Given the description of an element on the screen output the (x, y) to click on. 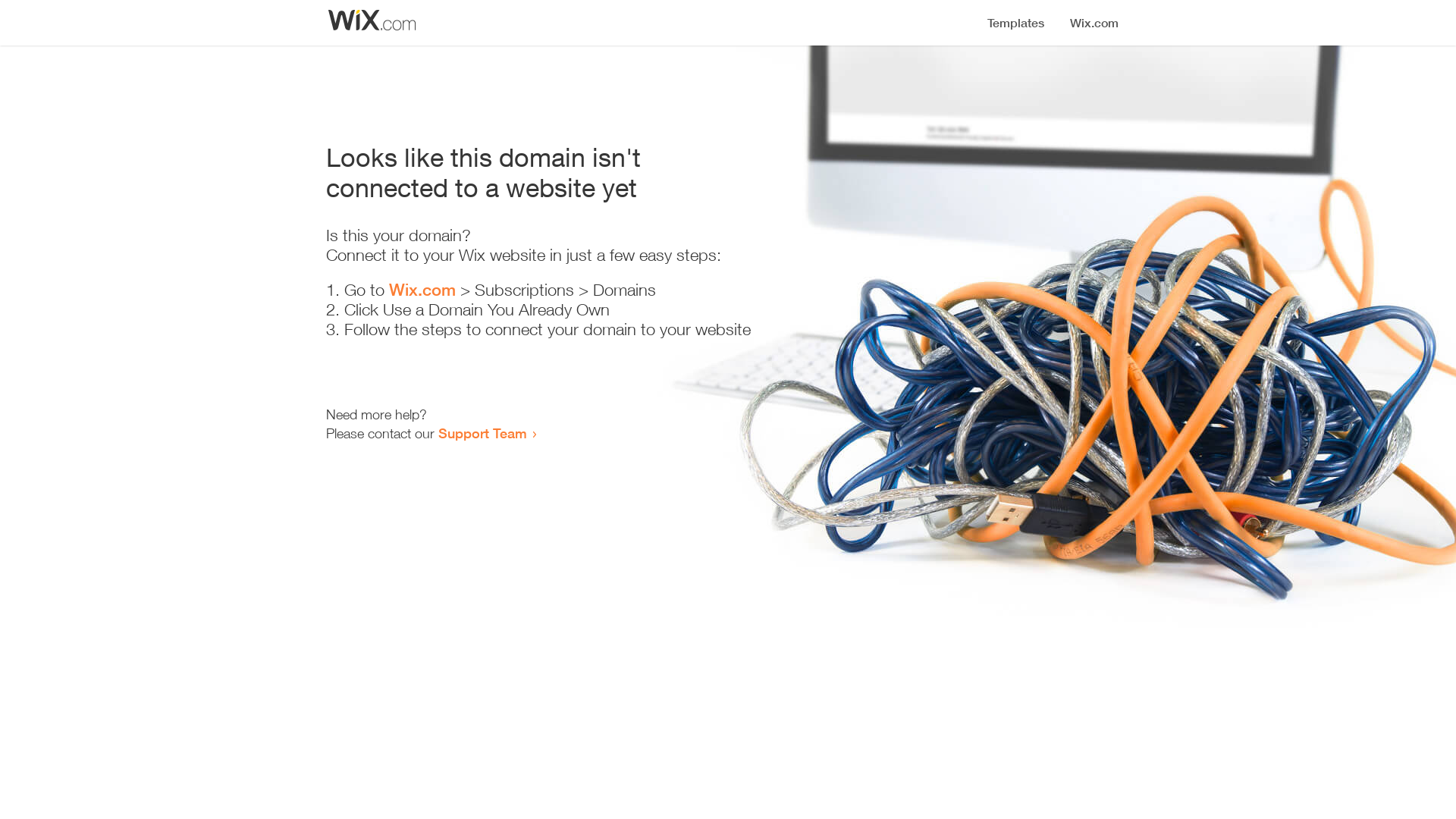
Wix.com Element type: text (422, 289)
Support Team Element type: text (482, 432)
